Given the description of an element on the screen output the (x, y) to click on. 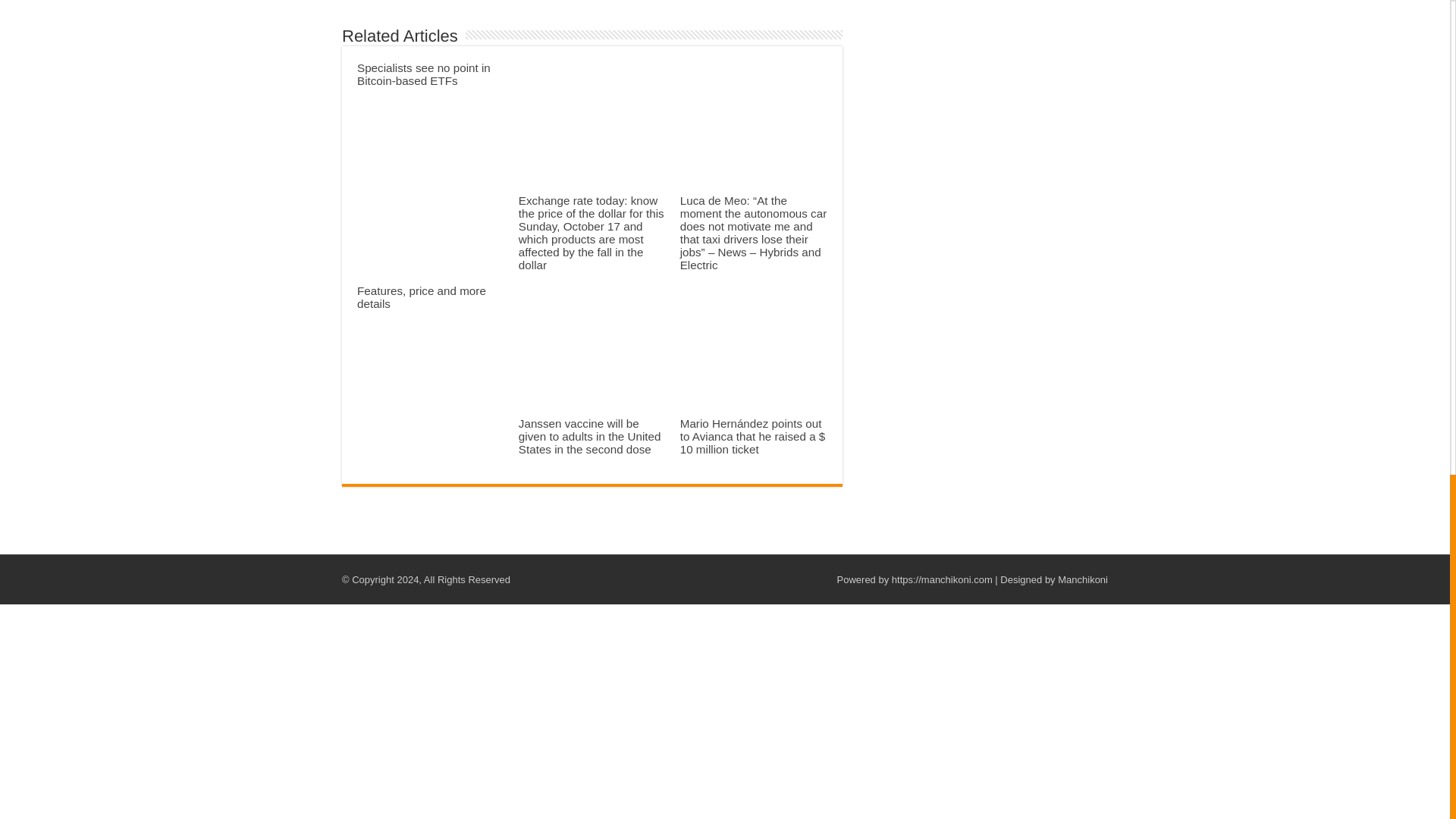
Specialists see no point in Bitcoin-based ETFs (423, 73)
